Given the description of an element on the screen output the (x, y) to click on. 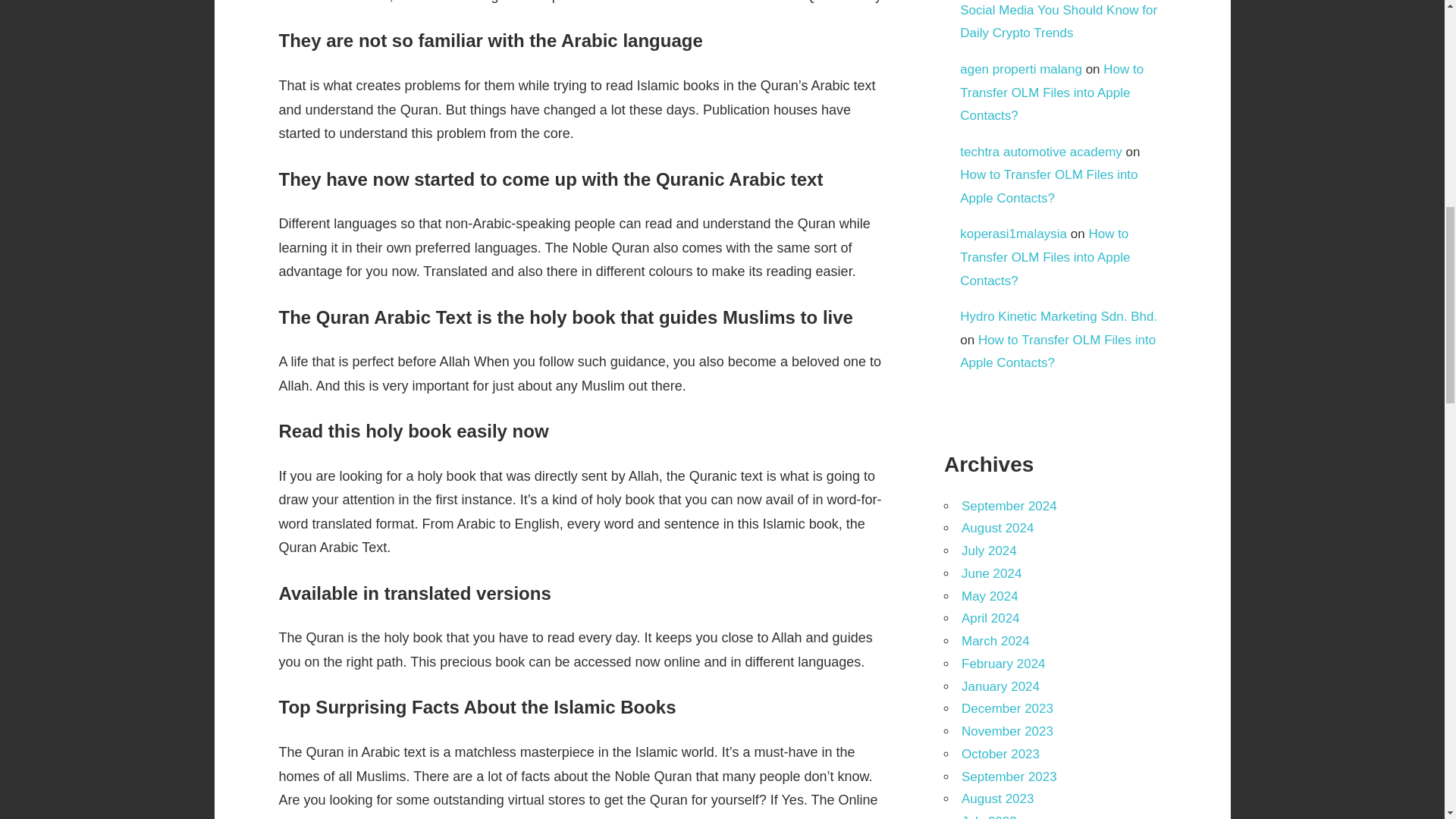
Hydro Kinetic Marketing Sdn. Bhd. (1058, 316)
How to Transfer OLM Files into Apple Contacts? (1057, 351)
How to Transfer OLM Files into Apple Contacts? (1044, 256)
techtra automotive academy (1040, 151)
How to Transfer OLM Files into Apple Contacts? (1048, 186)
koperasi1malaysia (1013, 233)
agen properti malang (1020, 69)
How to Transfer OLM Files into Apple Contacts? (1050, 92)
September 2024 (1008, 505)
